Given the description of an element on the screen output the (x, y) to click on. 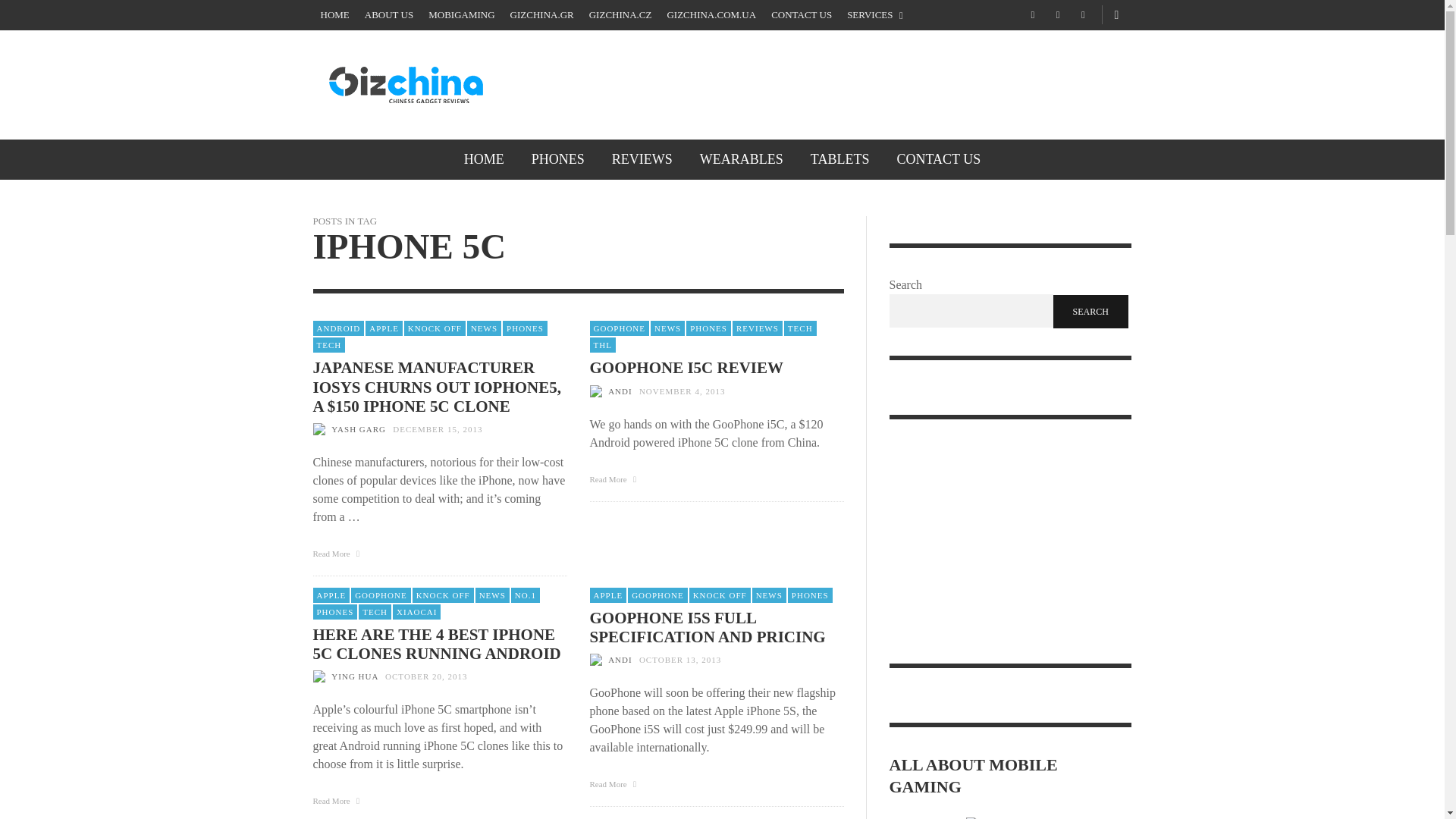
HOME (483, 159)
HOME (334, 15)
GIZCHINA.COM.UA (710, 15)
CONTACT US (801, 15)
GIZCHINA.CZ (619, 15)
ABOUT US (388, 15)
MOBIGAMING (461, 15)
REVIEWS (641, 159)
PHONES (558, 159)
SERVICES (875, 15)
